Given the description of an element on the screen output the (x, y) to click on. 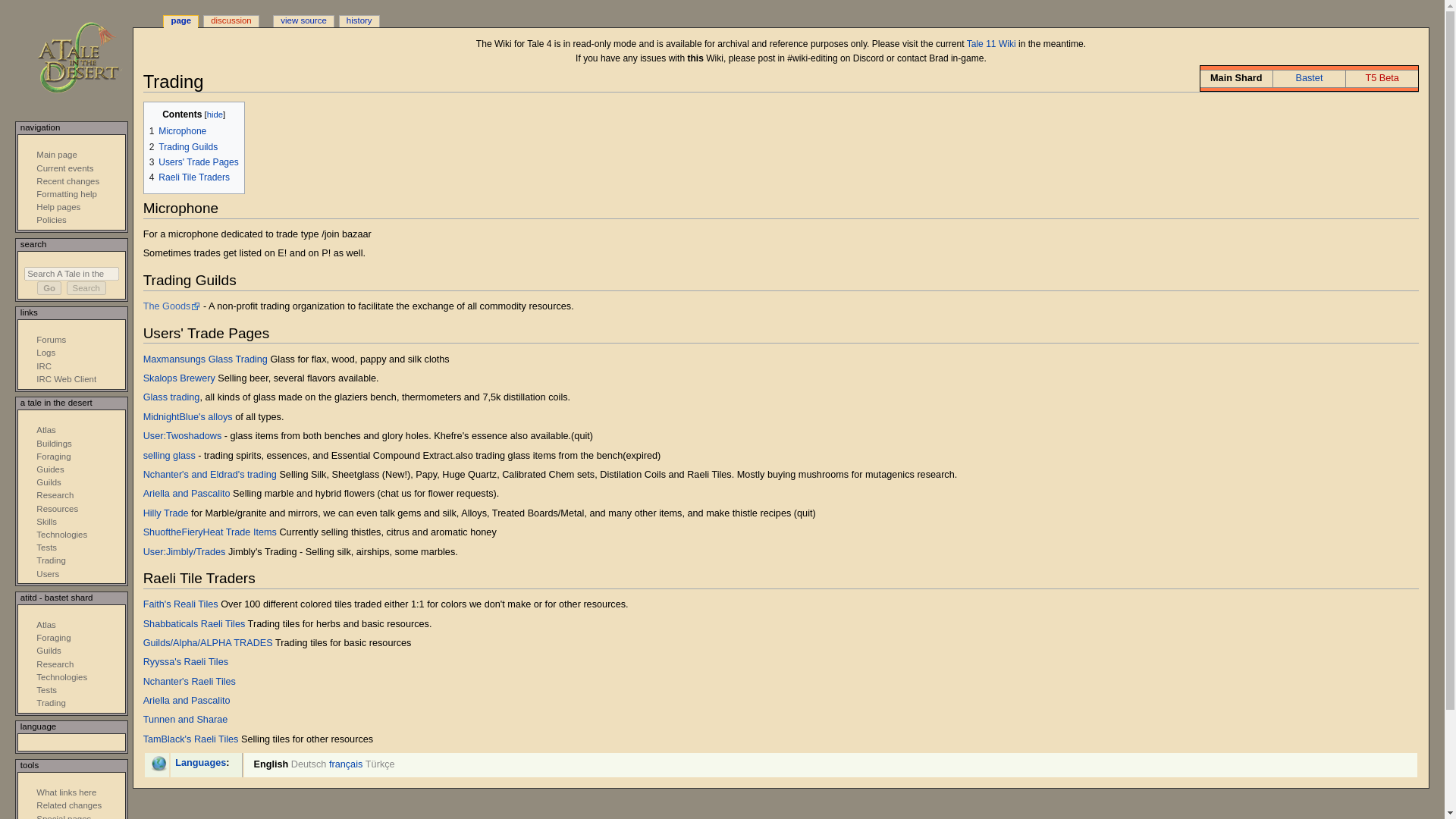
Go (49, 287)
Shabbaticals Raeli Tiles (194, 624)
User:MidnightBlue (187, 416)
ShuoftheFieryHeat Trade Items (210, 532)
page (180, 21)
Search (86, 287)
Main Shard (1235, 77)
User:Pascalito (186, 493)
The Goods (171, 306)
